Given the description of an element on the screen output the (x, y) to click on. 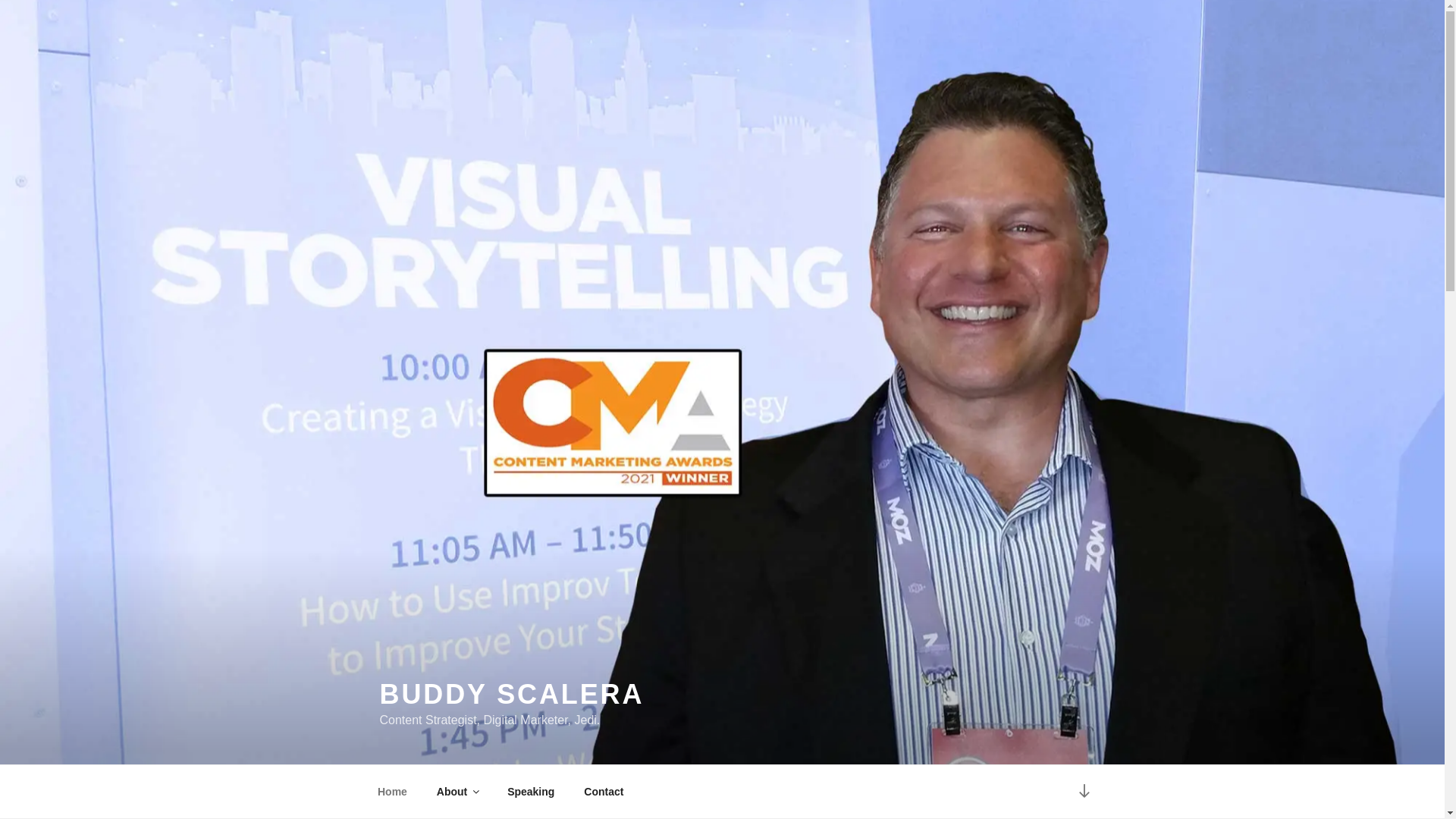
BUDDY SCALERA (510, 694)
Home (392, 791)
Scroll down to content (1082, 791)
Contact (603, 791)
About (456, 791)
Speaking (531, 791)
Scroll down to content (1082, 791)
